Given the description of an element on the screen output the (x, y) to click on. 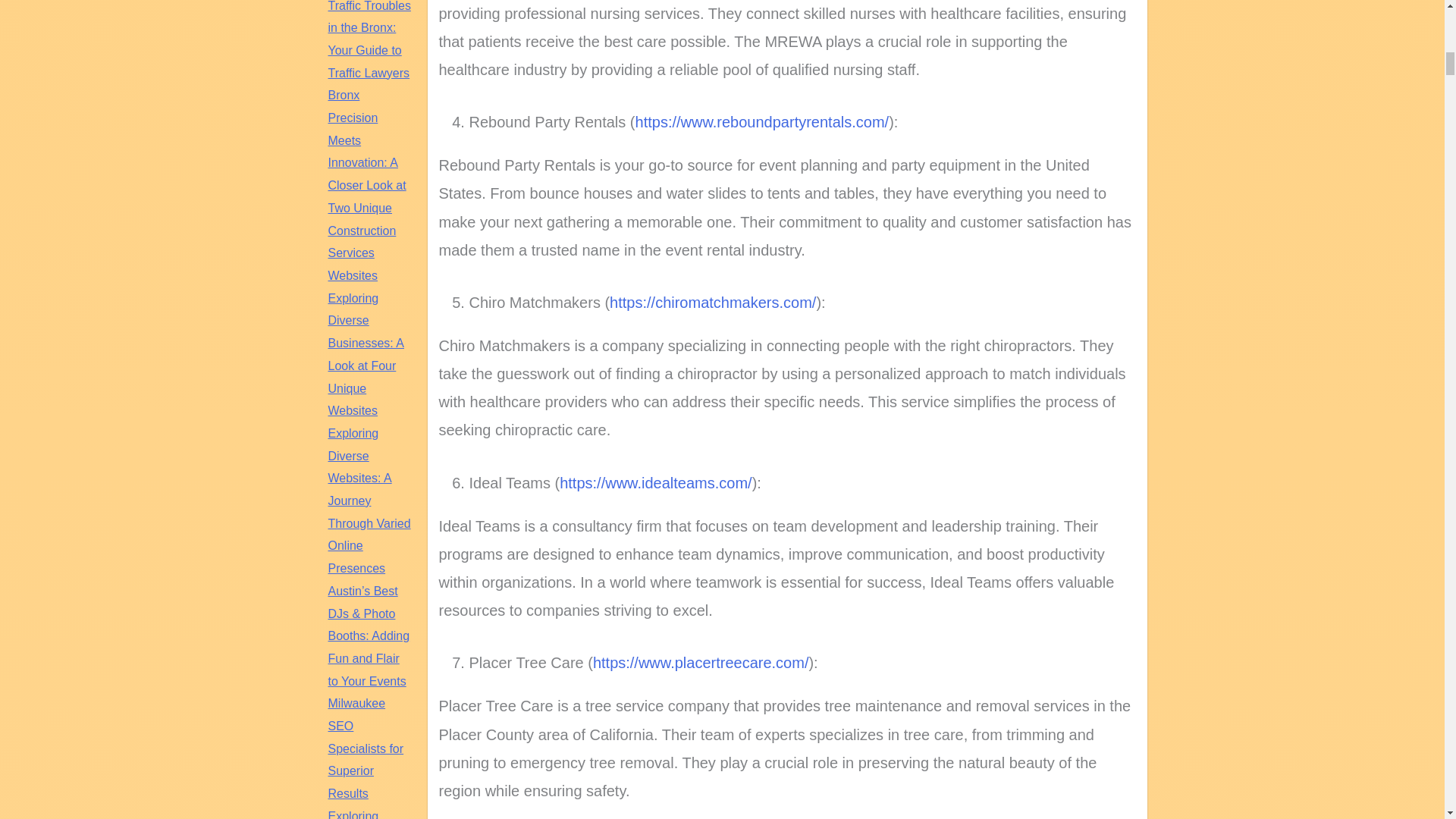
Exploring Online Resources for Health and Wellness (365, 814)
